Given the description of an element on the screen output the (x, y) to click on. 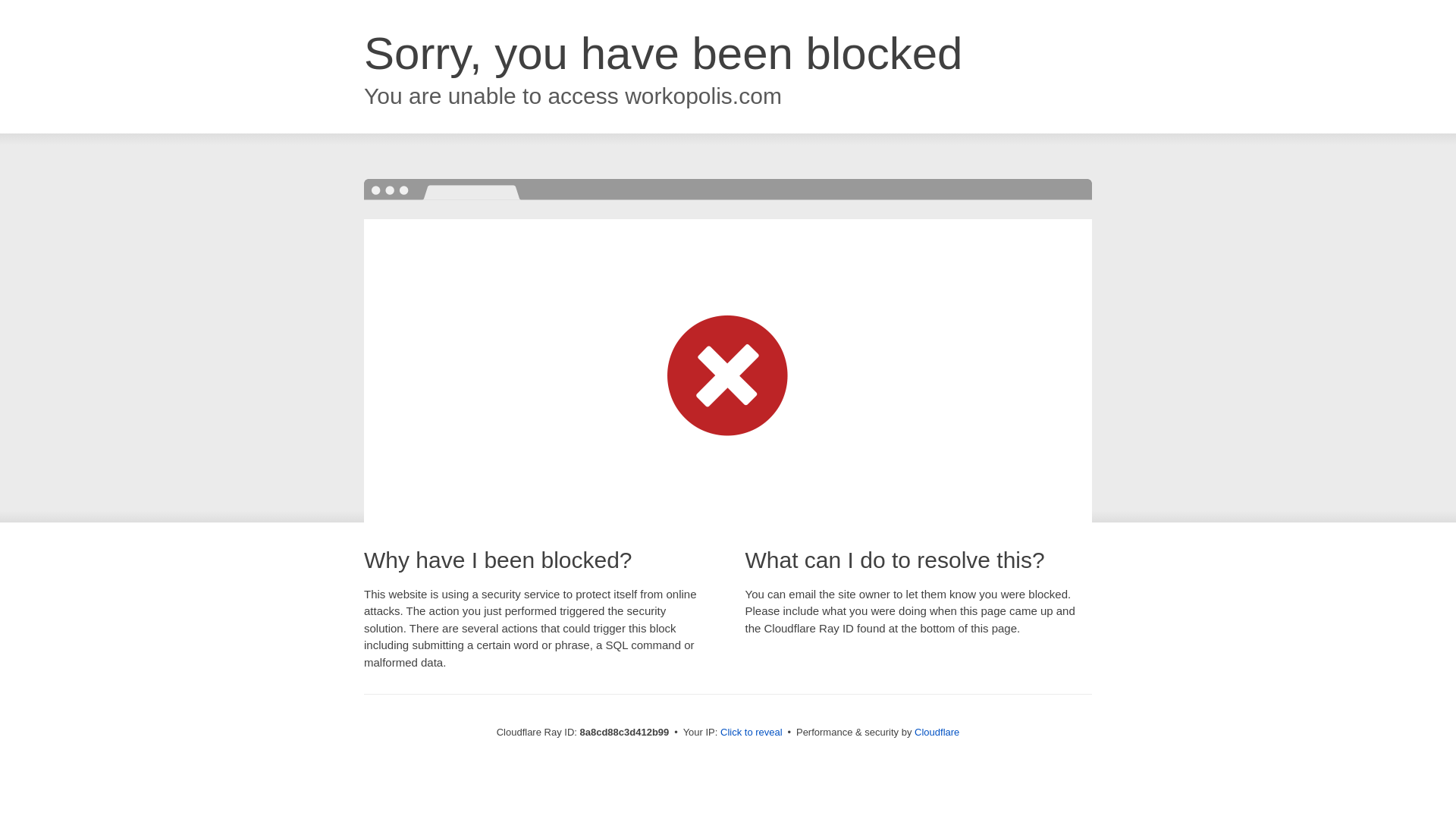
Click to reveal (751, 732)
Cloudflare (936, 731)
